Given the description of an element on the screen output the (x, y) to click on. 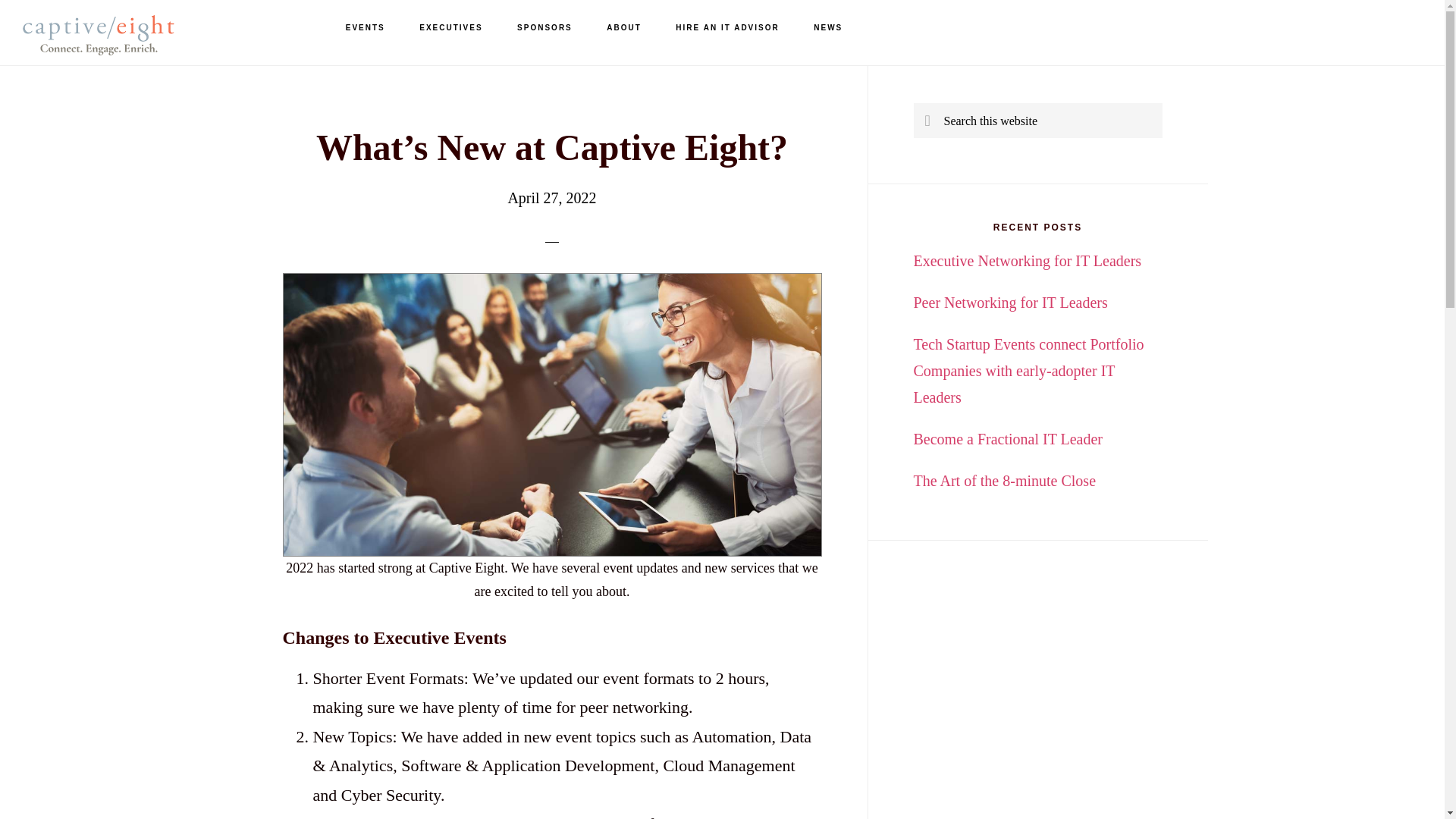
CAPTIVE EIGHT (98, 37)
EXECUTIVES (450, 27)
Executive Networking for IT Leaders (1026, 260)
NEWS (827, 27)
ABOUT (623, 27)
EVENTS (365, 27)
HIRE AN IT ADVISOR (727, 27)
SPONSORS (545, 27)
